Given the description of an element on the screen output the (x, y) to click on. 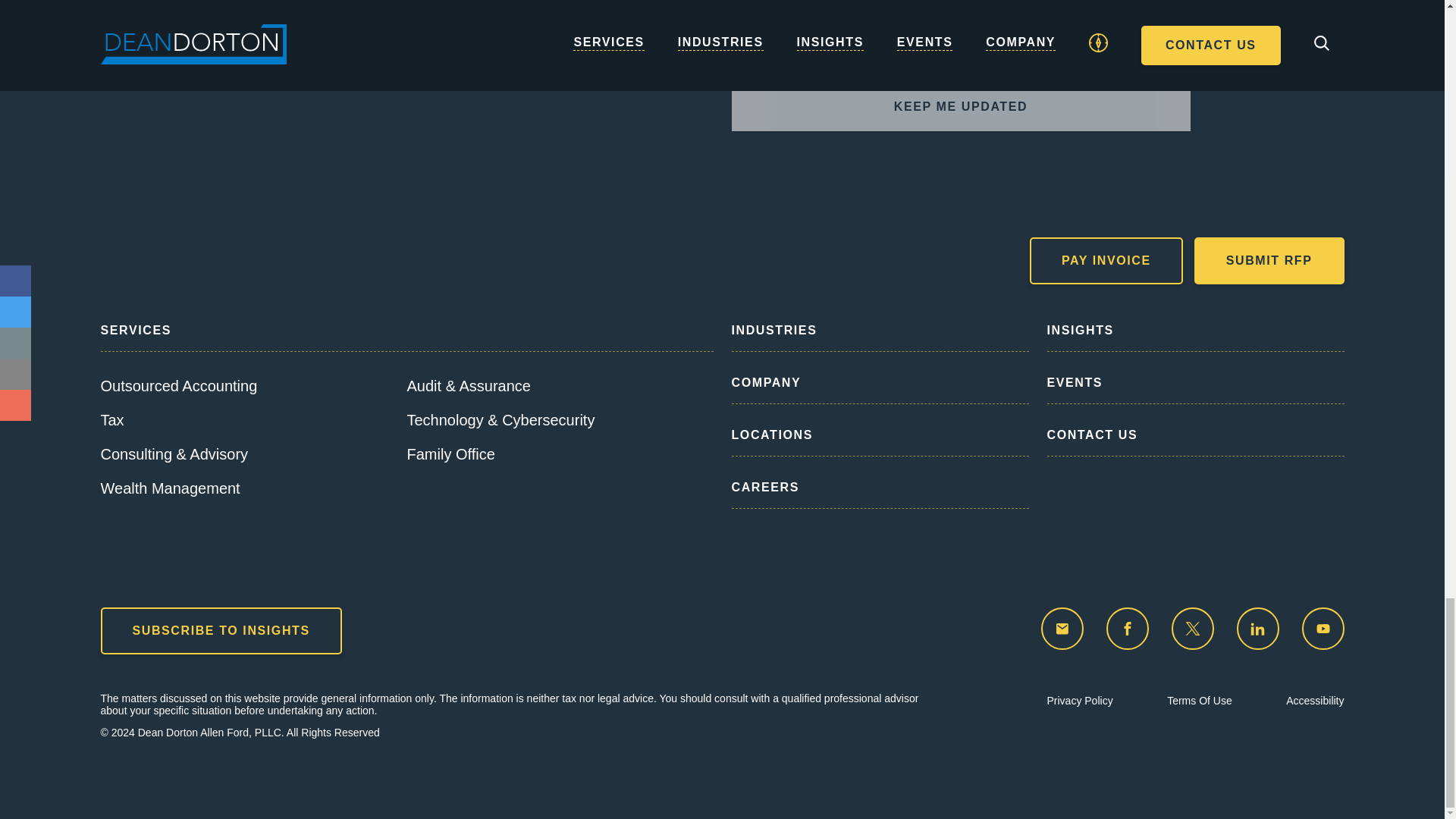
Dean Dorton - CPAs and Advisors on YouTube (1322, 628)
Dean Dorton - CPAs and Advisors on LinkedIn (1257, 628)
Dean Dorton - CPAs and Advisors on email (1062, 628)
Dean Dorton - CPAs and Advisors on Facebook (1126, 628)
Dean Dorton - CPAs and Advisors on twitter (1191, 628)
